Given the description of an element on the screen output the (x, y) to click on. 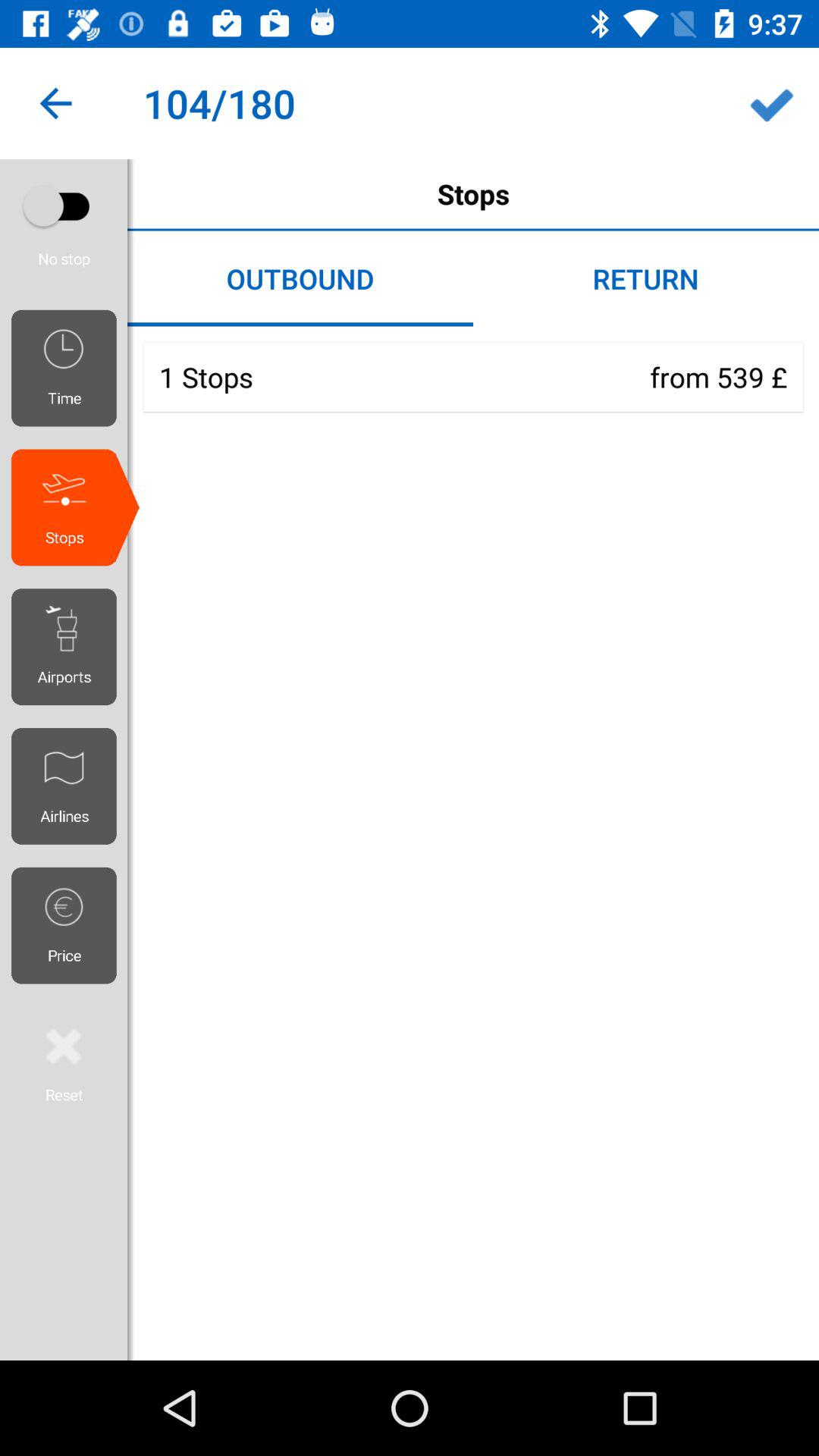
turn off icon next to stops (55, 103)
